Given the description of an element on the screen output the (x, y) to click on. 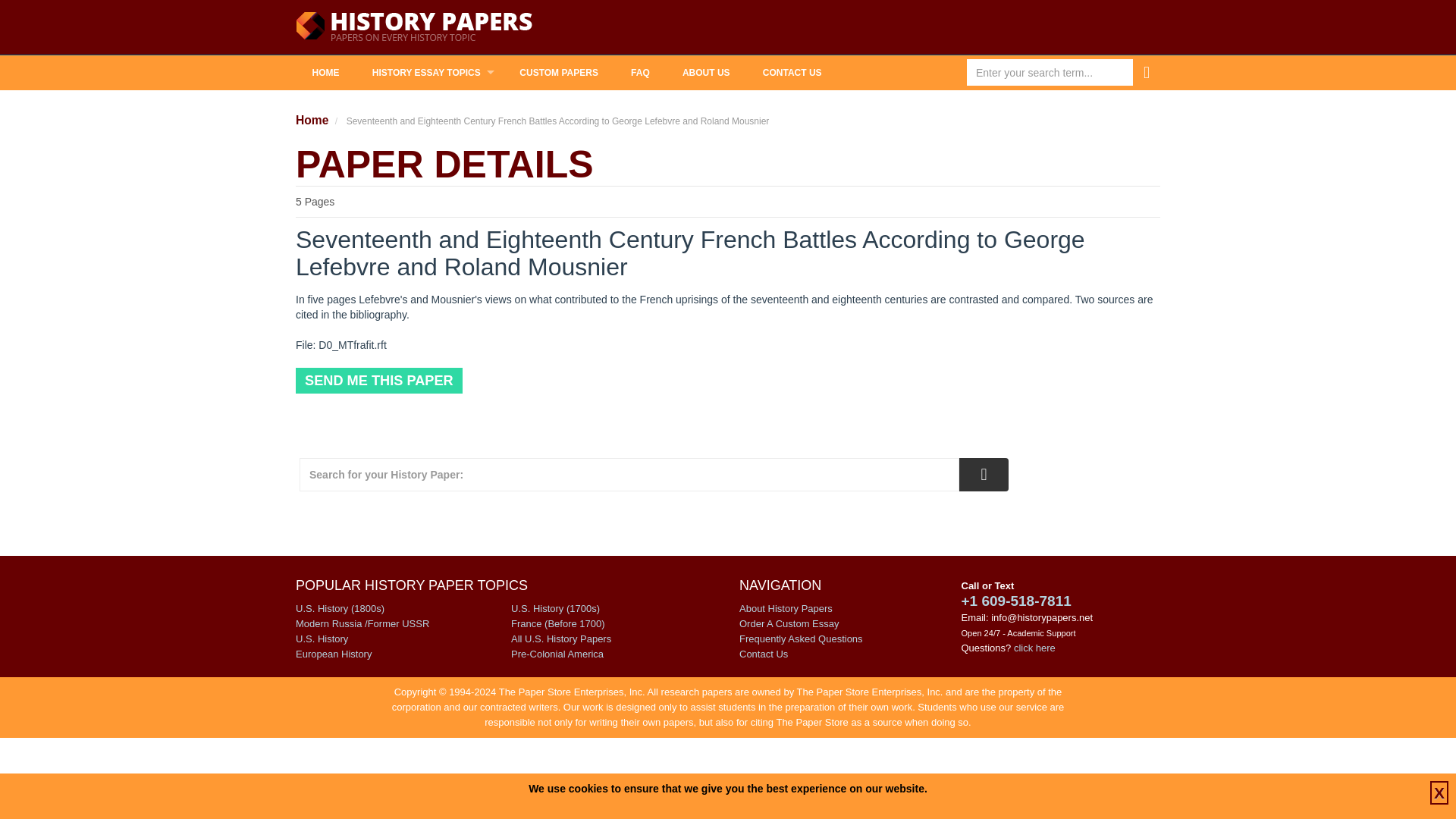
SEND ME THIS PAPER (379, 380)
HISTORY ESSAY TOPICS (429, 72)
Send Me This Paper (379, 380)
History Papers (413, 27)
ABOUT US (705, 72)
CUSTOM PAPERS (558, 72)
Home (312, 119)
HOME (325, 72)
FAQ (639, 72)
CONTACT US (791, 72)
